Given the description of an element on the screen output the (x, y) to click on. 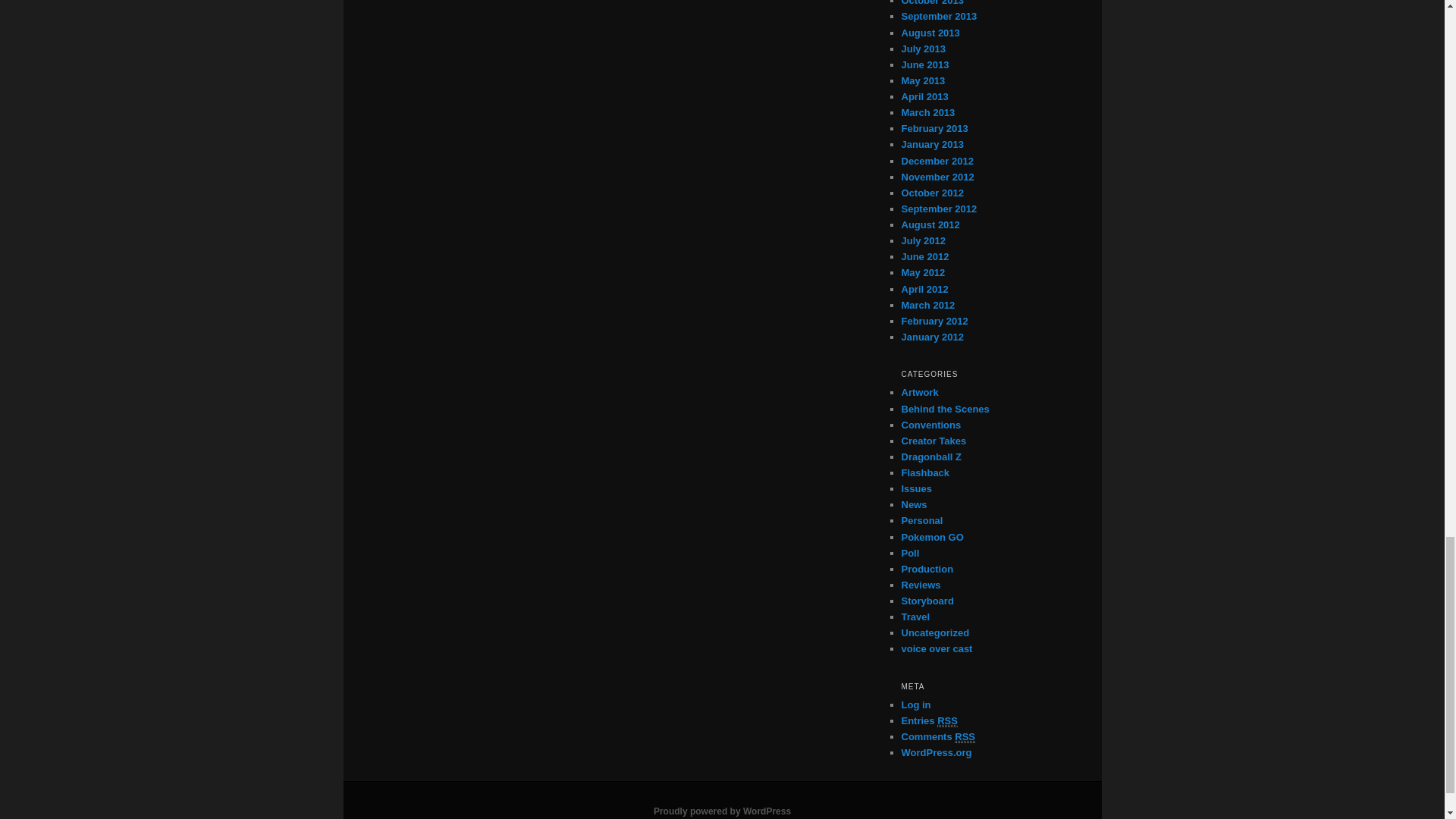
Really Simple Syndication (947, 720)
Really Simple Syndication (965, 736)
Semantic Personal Publishing Platform (721, 810)
